Given the description of an element on the screen output the (x, y) to click on. 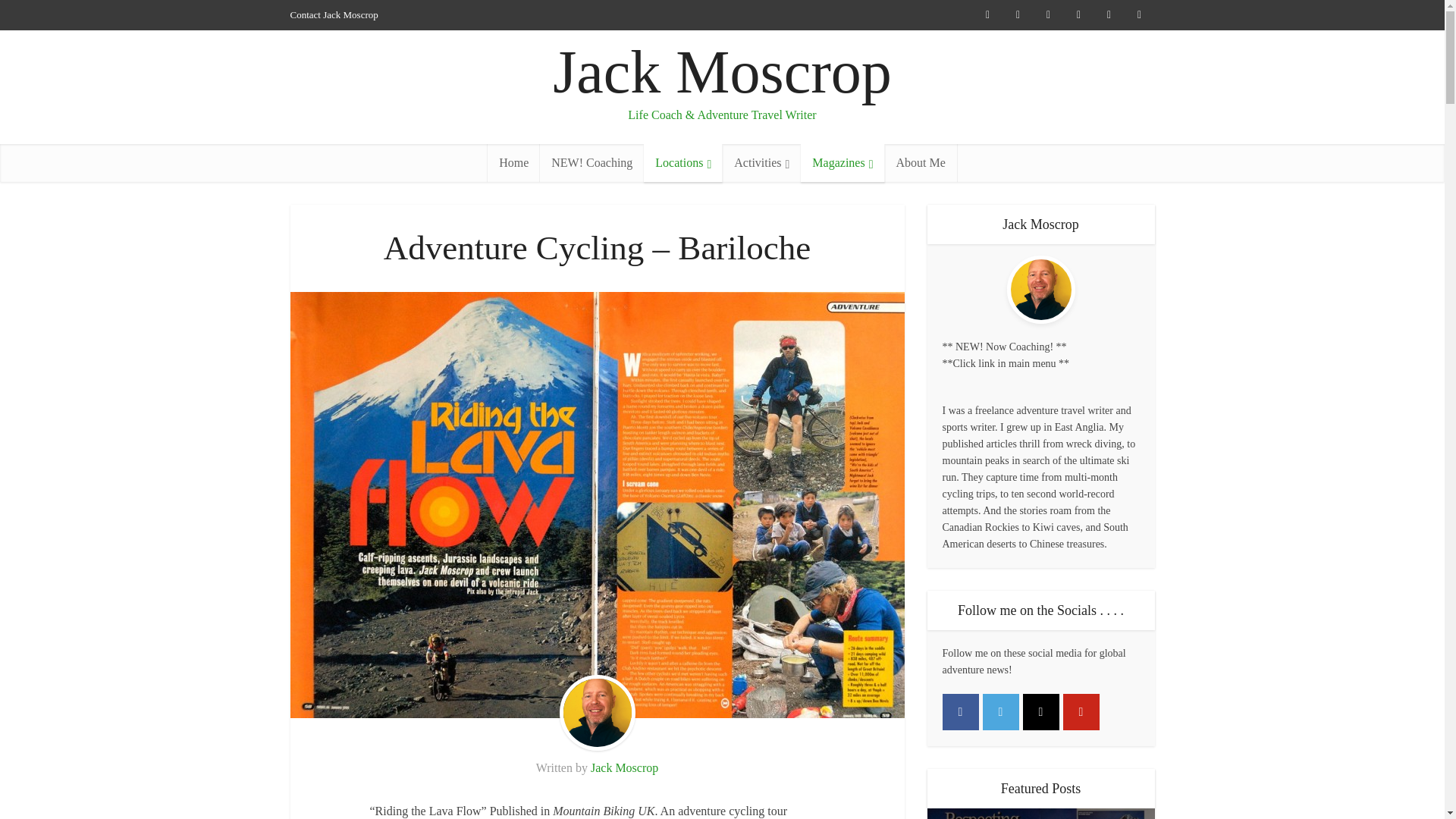
About Me (919, 162)
Locations (682, 162)
Home (513, 162)
Magazines (841, 162)
Jack Moscrop (722, 71)
Pinterest (1080, 711)
Facebook (960, 711)
NEW! Coaching (591, 162)
Twitter (1000, 711)
Jack Moscrop (624, 767)
